Given the description of an element on the screen output the (x, y) to click on. 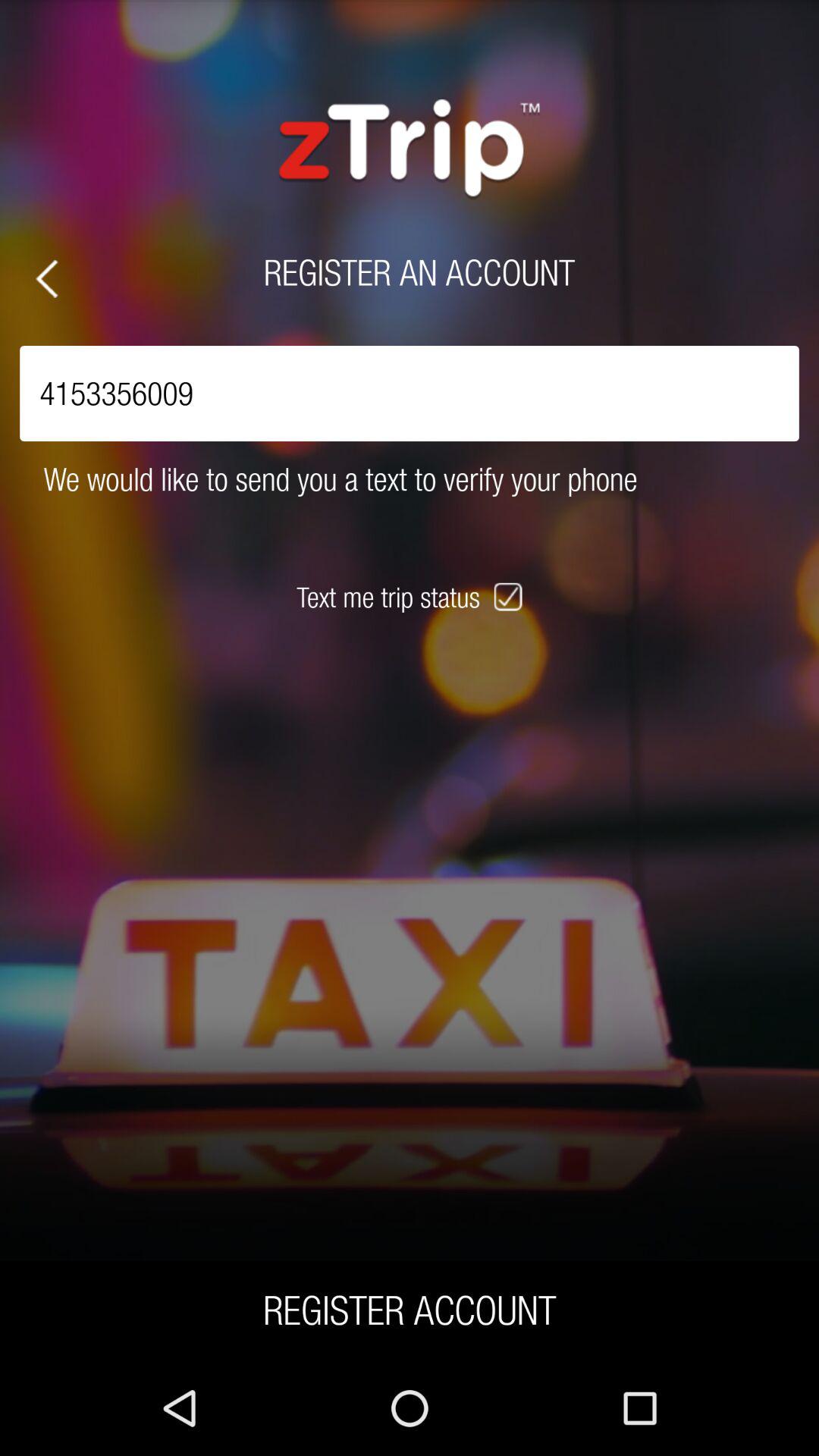
choose item above 4153356009 (46, 278)
